Given the description of an element on the screen output the (x, y) to click on. 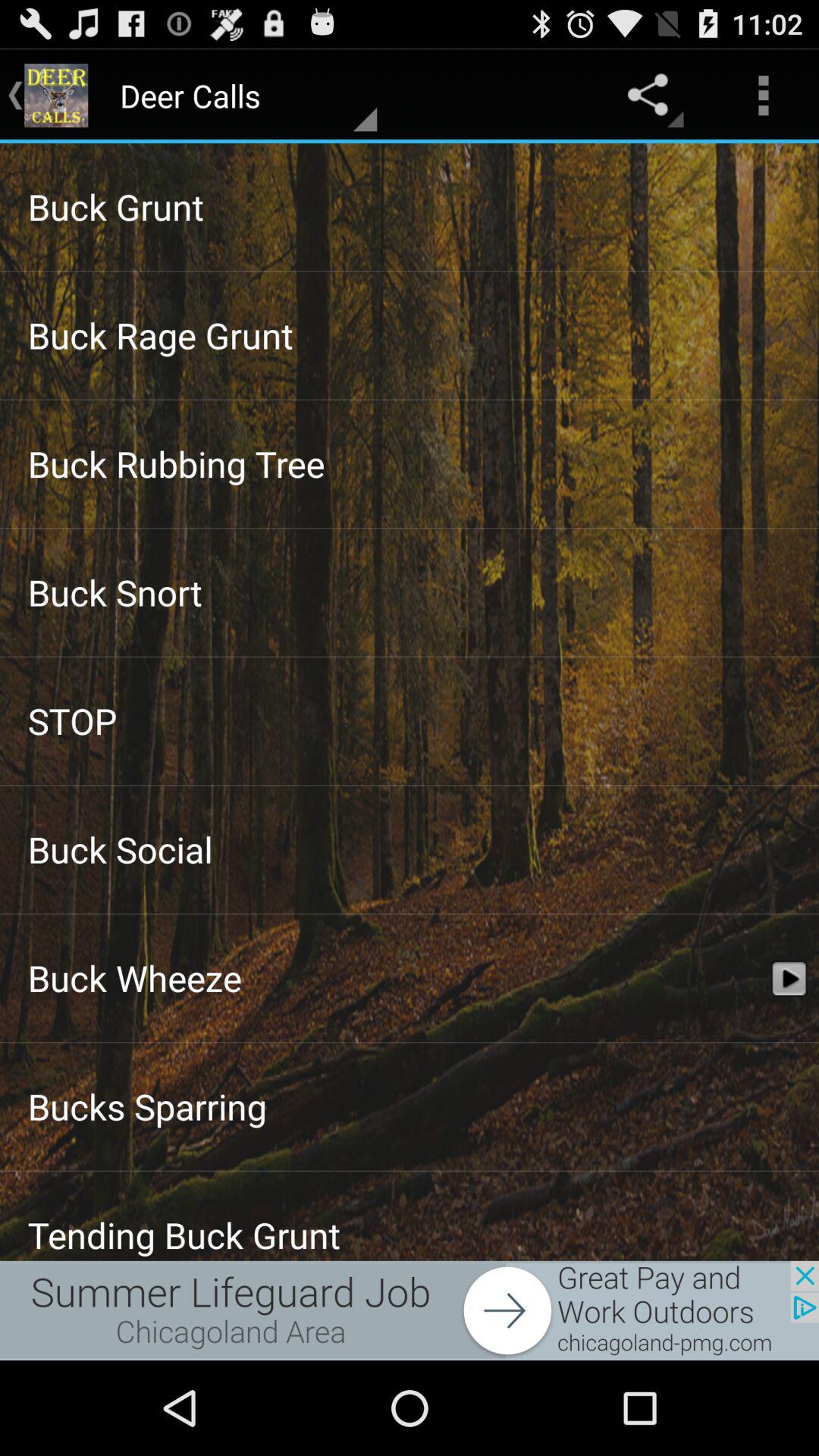
to go cease (409, 1310)
